Given the description of an element on the screen output the (x, y) to click on. 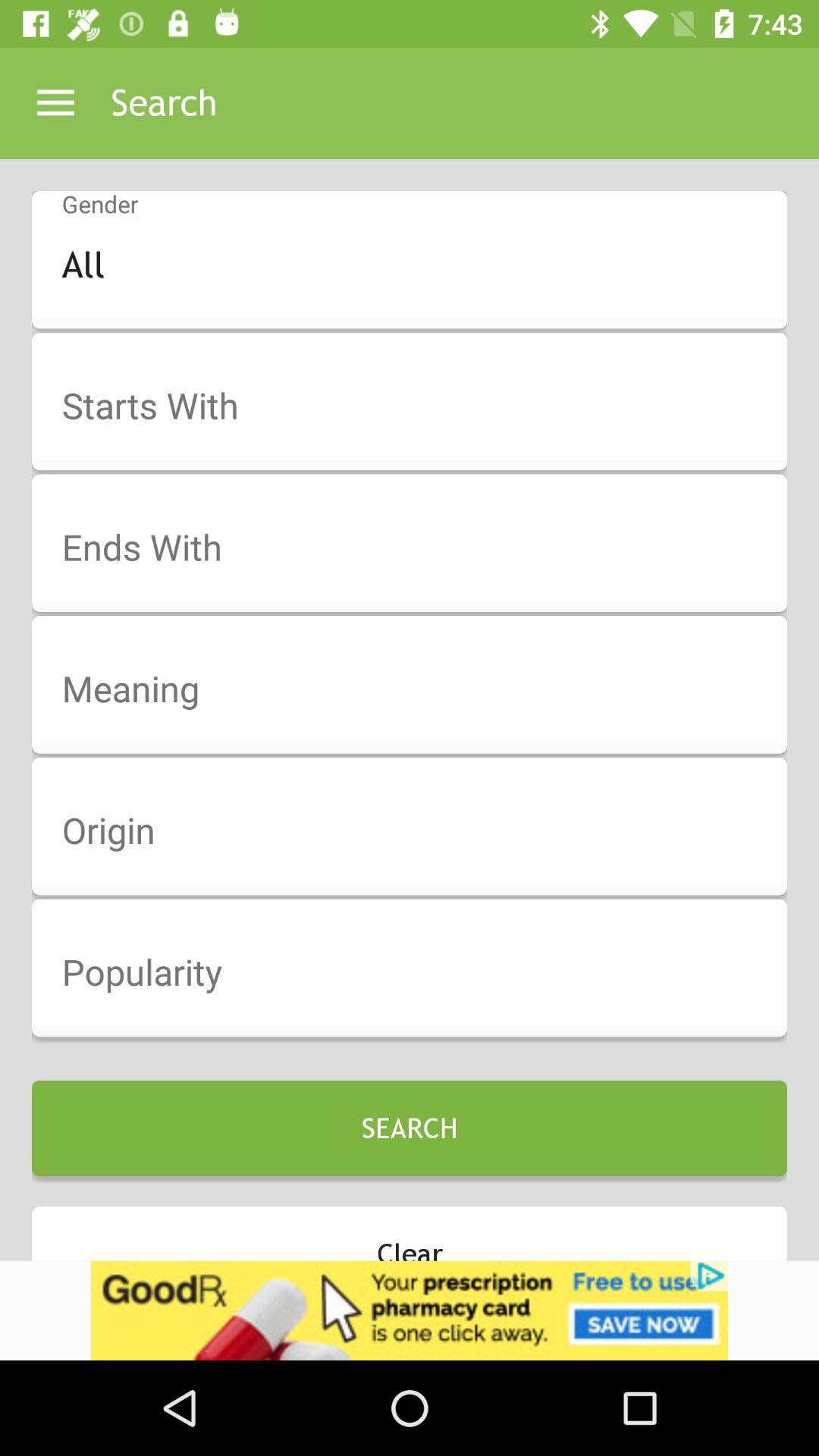
selected starts with (419, 406)
